Given the description of an element on the screen output the (x, y) to click on. 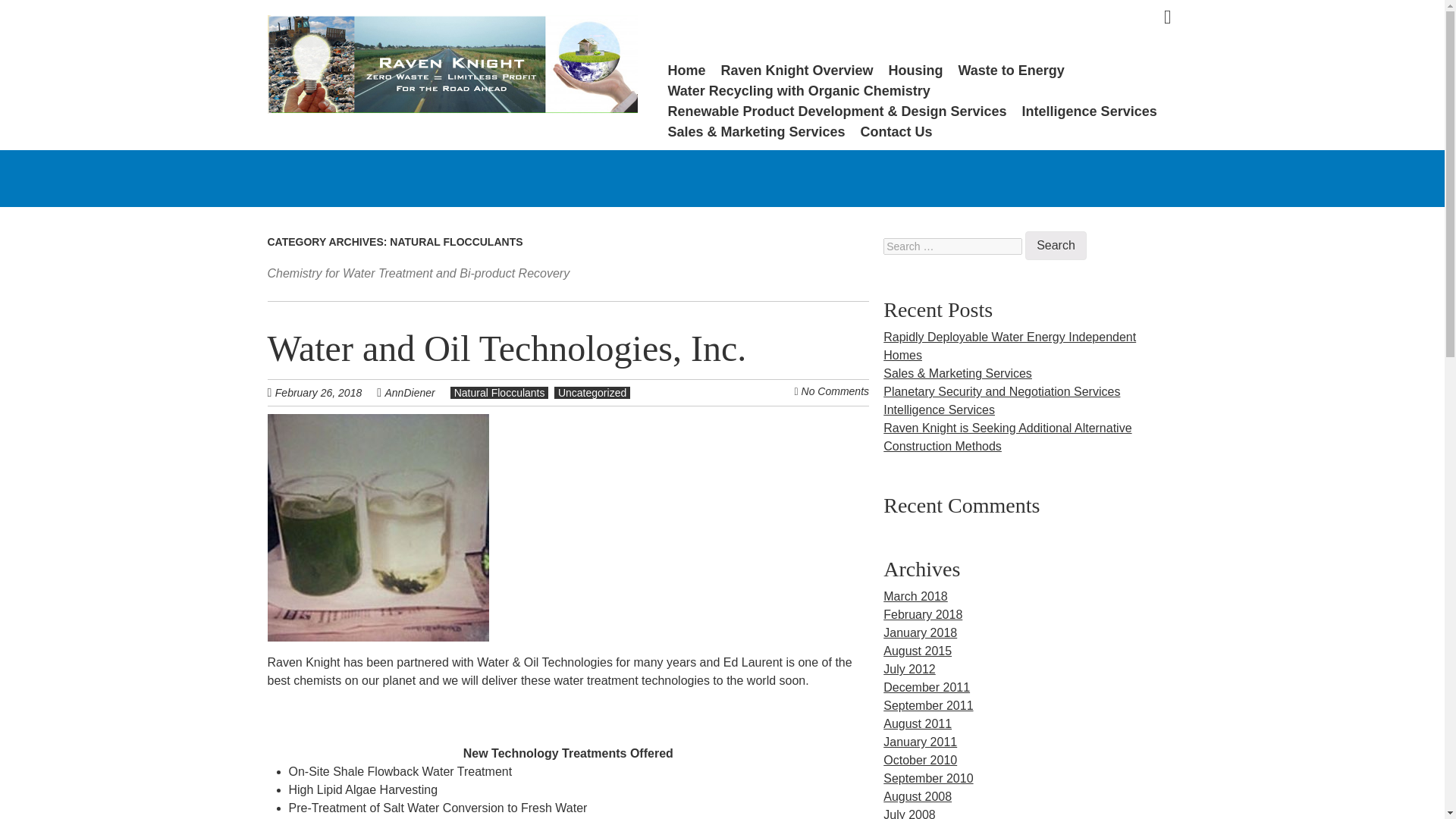
October 2010 (919, 759)
Comment on Water and Oil Technologies, Inc. (835, 390)
Intelligence Services (938, 409)
Home (685, 70)
February 2018 (922, 614)
Skip to content (692, 69)
August 2011 (917, 723)
Contact Us (896, 132)
August 2008 (917, 796)
September 2011 (927, 705)
